Given the description of an element on the screen output the (x, y) to click on. 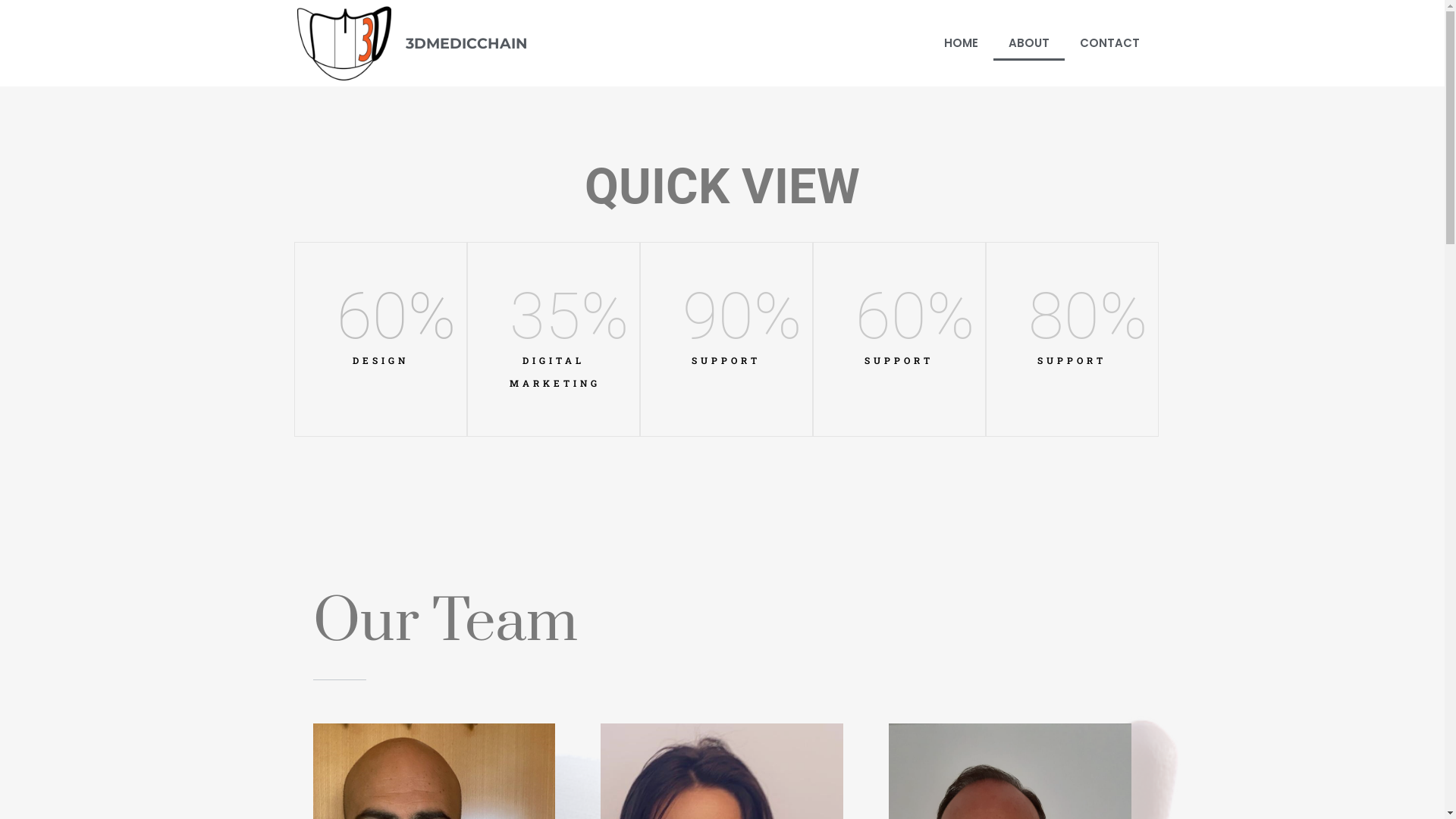
ABOUT Element type: text (1028, 42)
CONTACT Element type: text (1109, 42)
HOME Element type: text (960, 42)
